Given the description of an element on the screen output the (x, y) to click on. 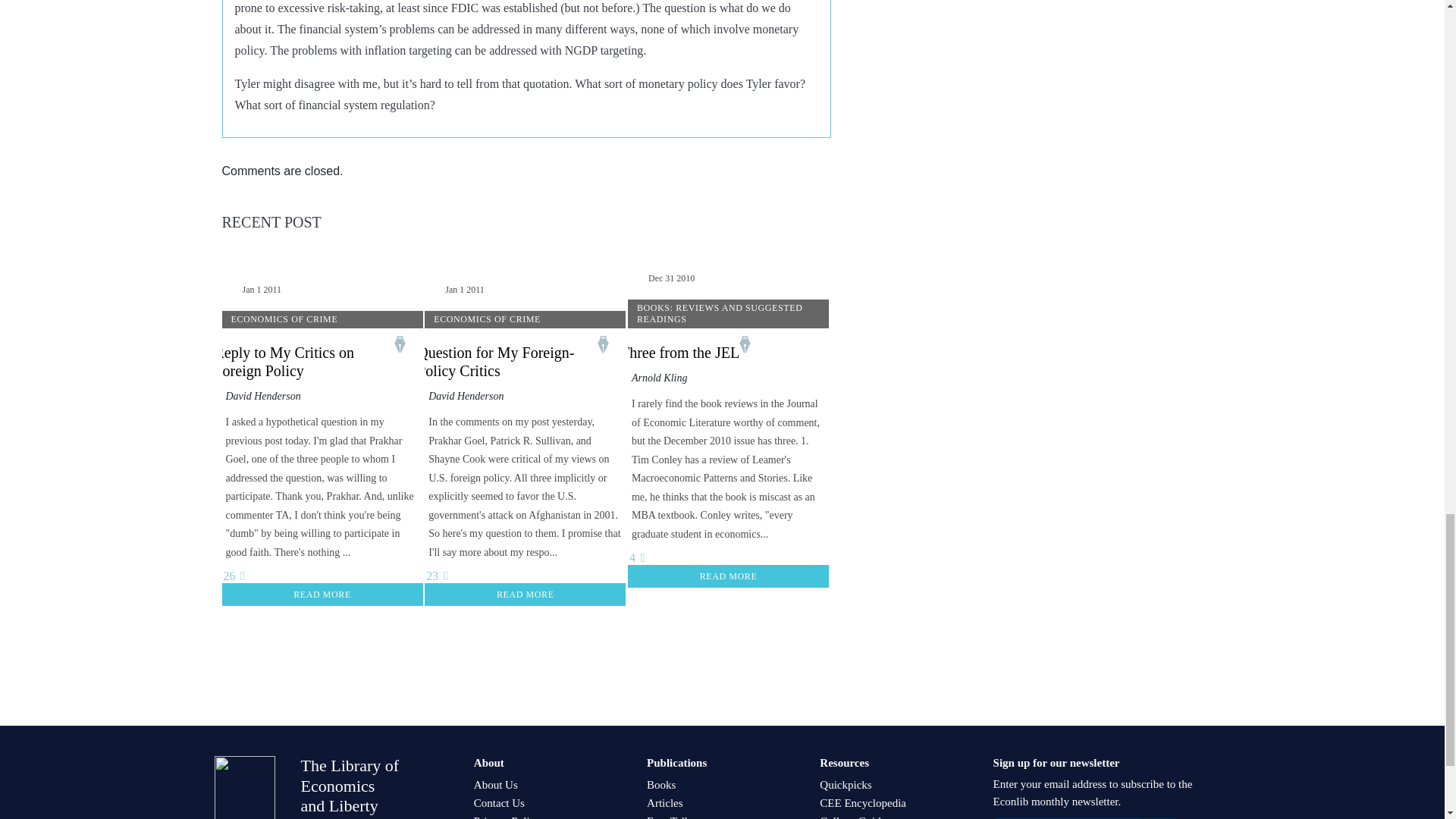
Arnold Kling (659, 378)
David Henderson (263, 396)
David Henderson (465, 396)
